Given the description of an element on the screen output the (x, y) to click on. 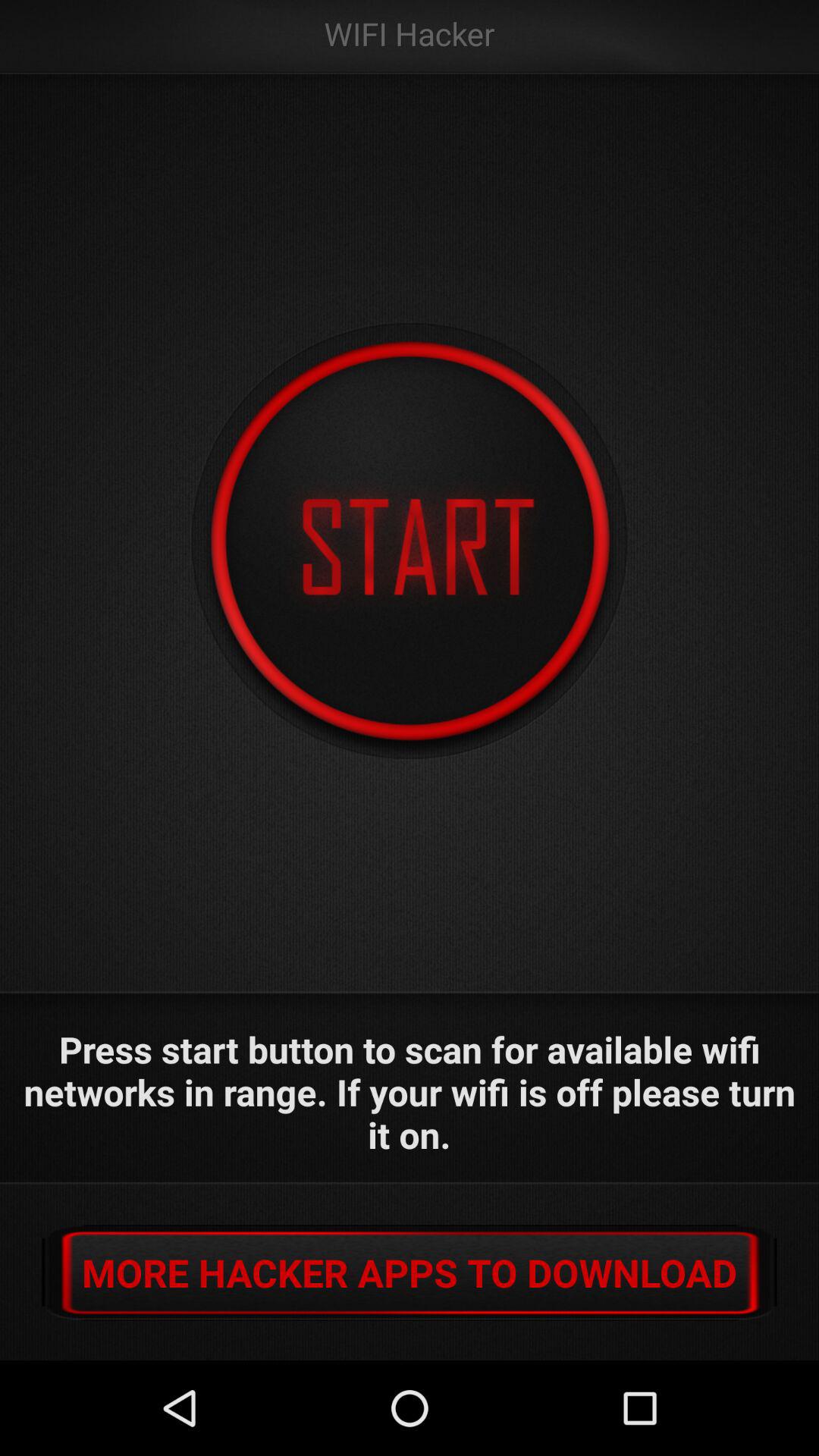
open the app below the wifi hacker (409, 541)
